Given the description of an element on the screen output the (x, y) to click on. 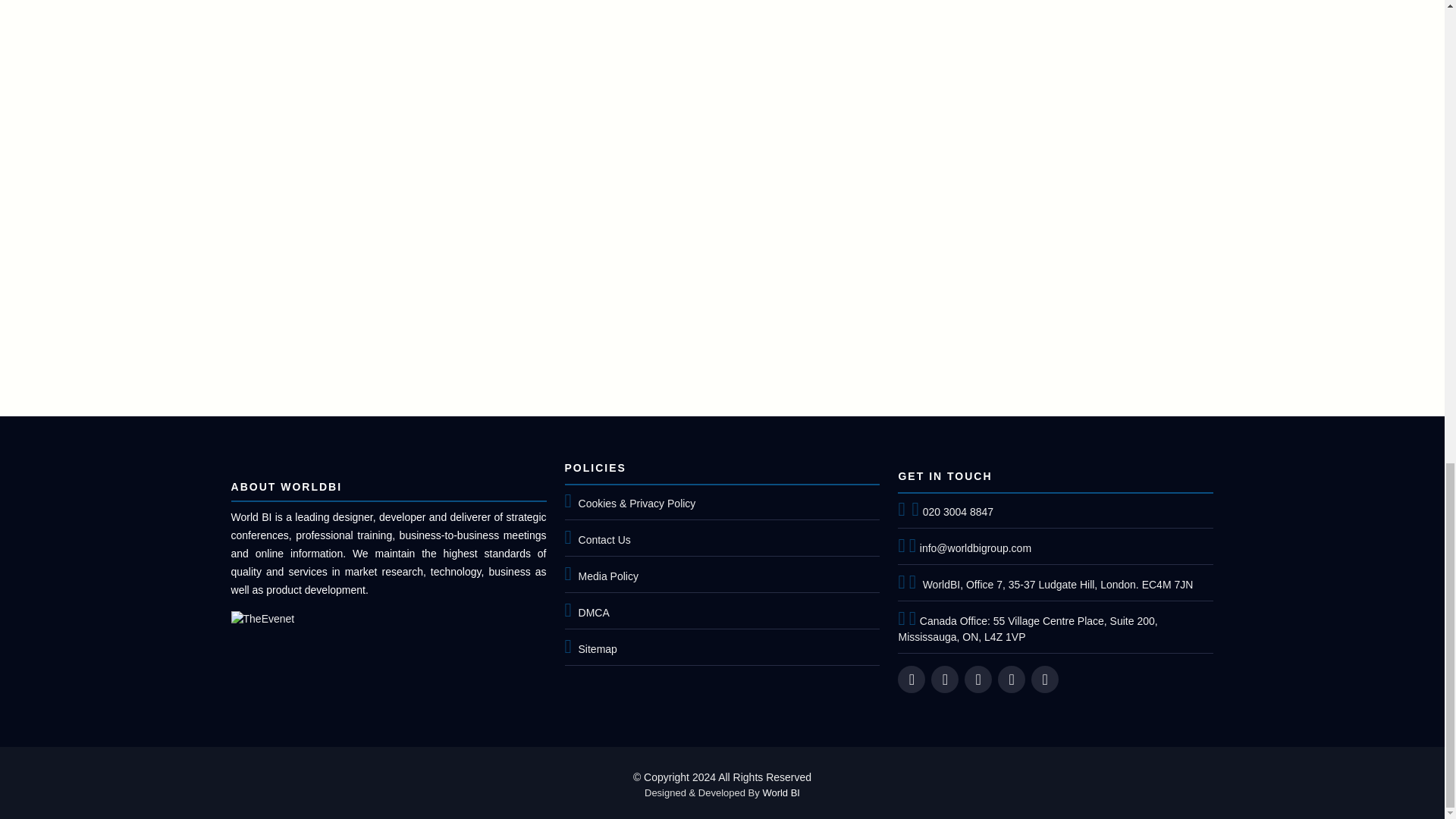
DMCA (594, 612)
020 3004 8847 (953, 511)
Media Policy (608, 576)
WorldBI, Office 7, 35-37 Ludgate Hill, London. EC4M 7JN (1050, 584)
World BI (780, 792)
Contact Us (604, 539)
Sitemap (597, 648)
